Given the description of an element on the screen output the (x, y) to click on. 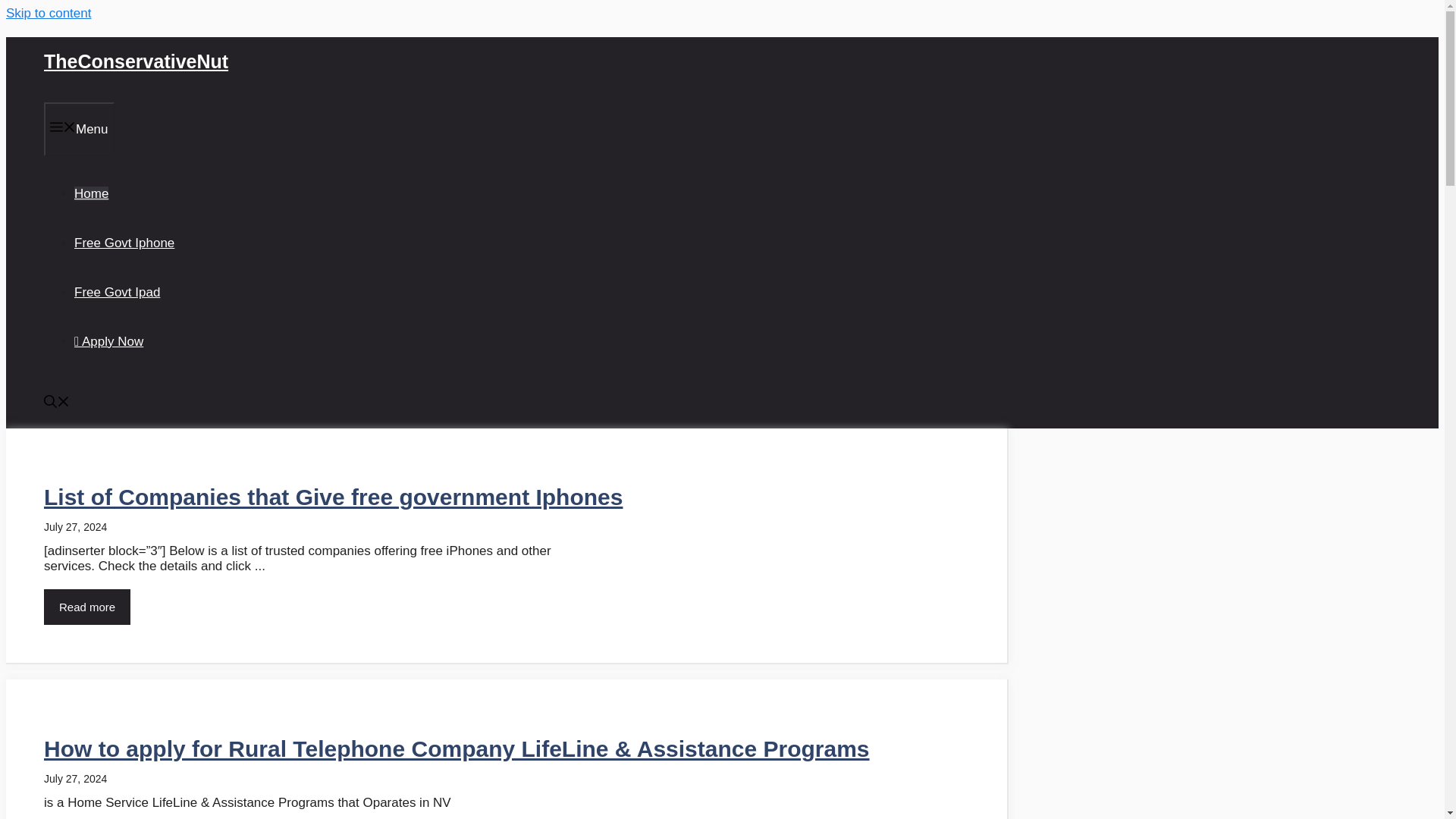
Free Govt Iphone (124, 242)
Free Govt Ipad (117, 292)
Skip to content (47, 12)
Skip to content (47, 12)
Read more (87, 606)
Menu (79, 128)
List of Companies that Give free government Iphones (333, 496)
Home (90, 193)
TheConservativeNut (135, 61)
